Given the description of an element on the screen output the (x, y) to click on. 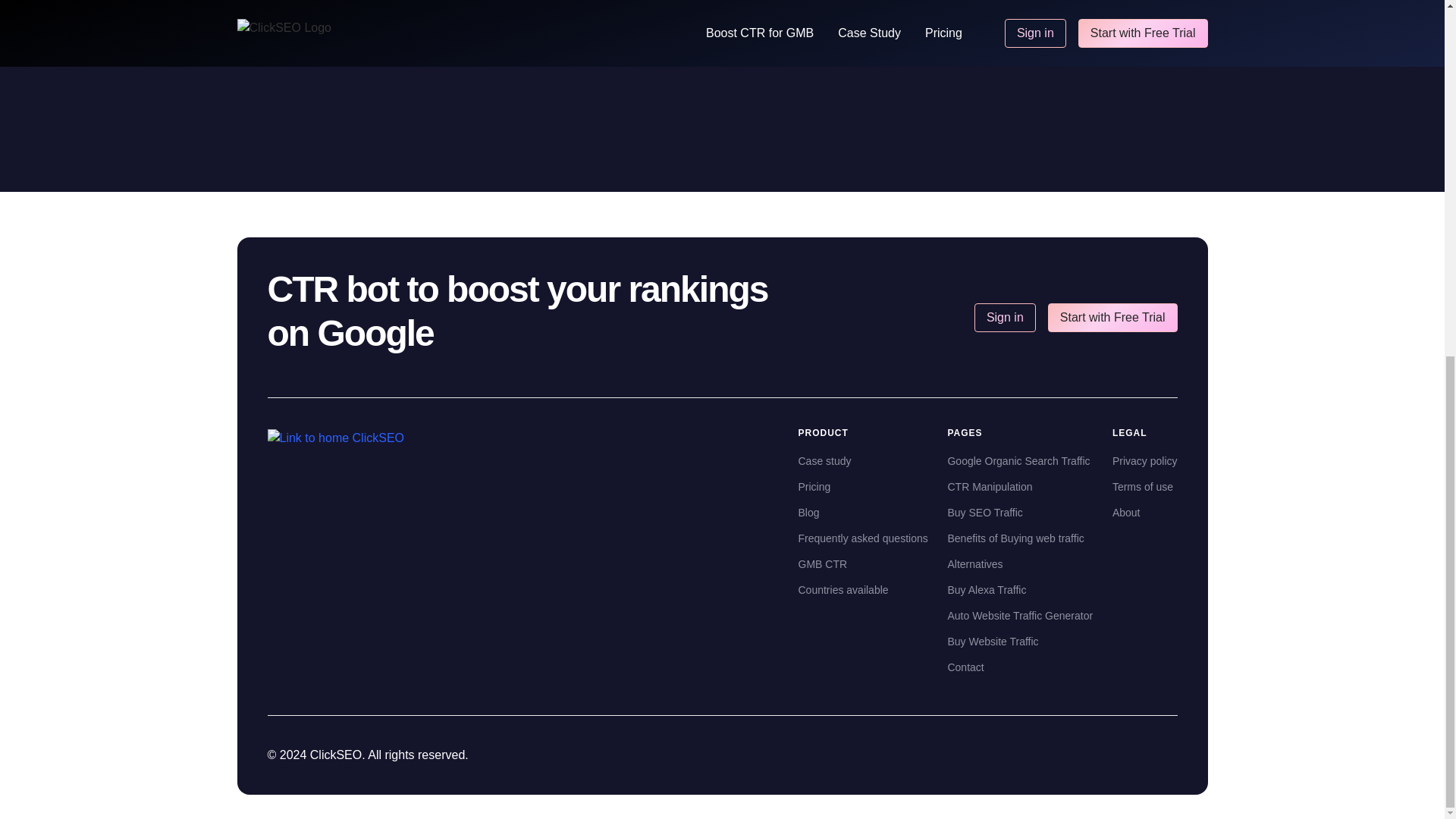
Case study (862, 460)
Alternatives (1020, 564)
CTR Manipulation (1020, 486)
Buy Alexa Traffic (1020, 589)
Buy Website Traffic (1020, 641)
Frequently asked questions (862, 538)
Start with Free Trial (1112, 317)
Auto Website Traffic Generator (1020, 615)
Blog (862, 512)
Sign in (1004, 317)
